Given the description of an element on the screen output the (x, y) to click on. 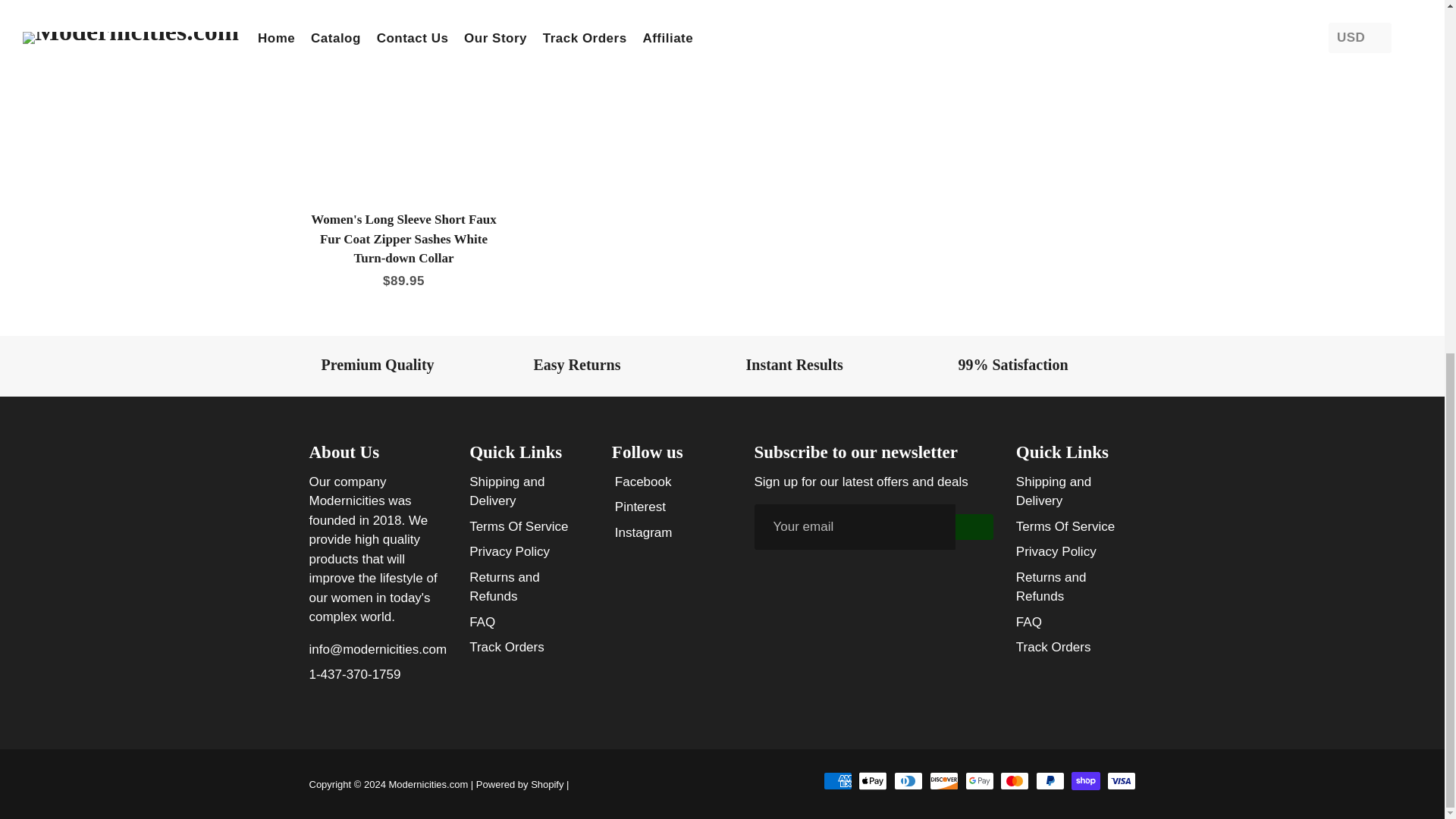
American Express (837, 781)
Visa (1120, 781)
Shop Pay (1085, 781)
PayPal (1049, 781)
Mastercard (1014, 781)
Google Pay (979, 781)
Modernicities.com on Pinterest (638, 506)
Apple Pay (872, 781)
Discover (944, 781)
Modernicities.com on Instagram (641, 532)
